Given the description of an element on the screen output the (x, y) to click on. 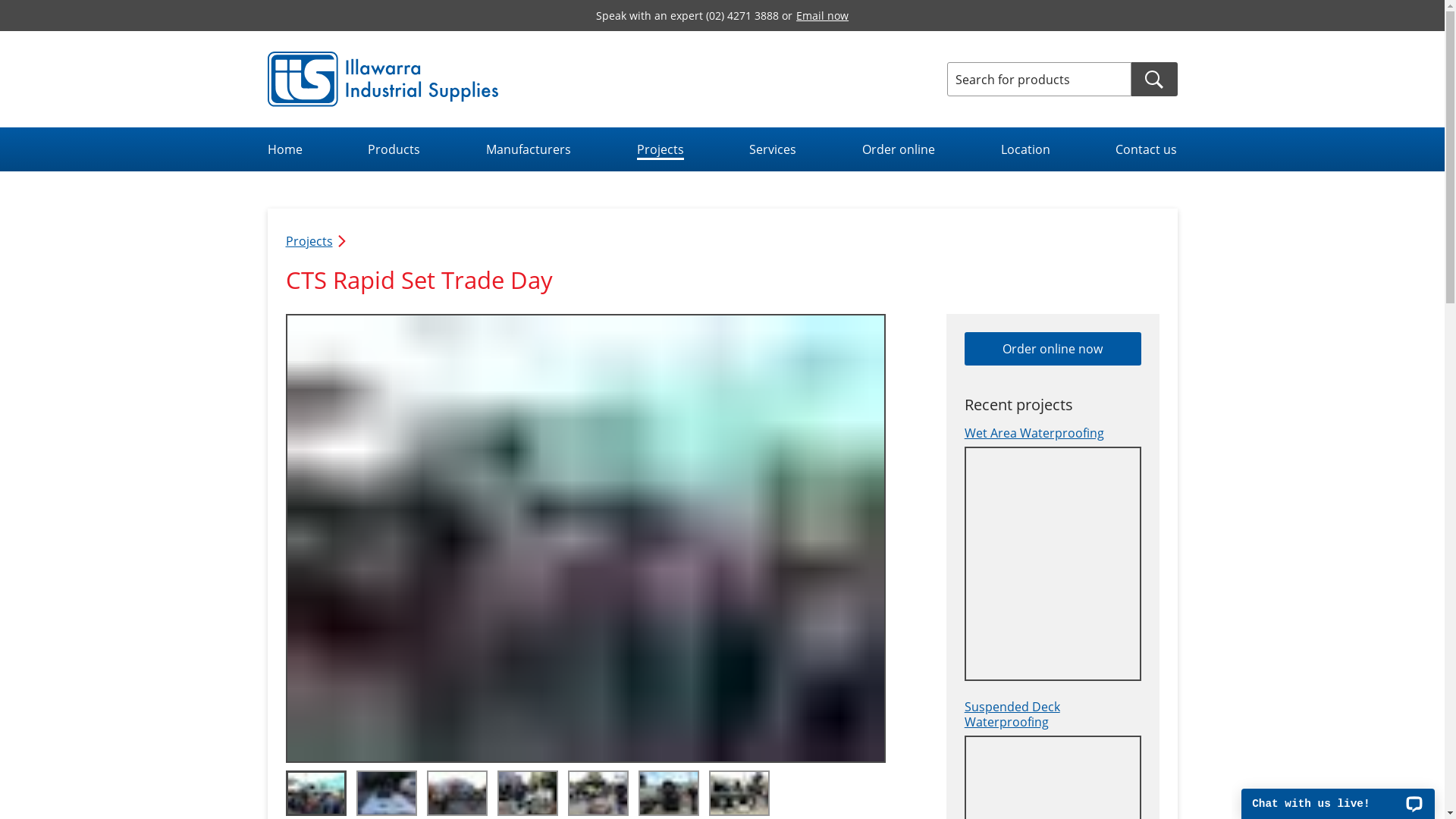
Wet Area Waterproofing Element type: text (1052, 549)
Order online now Element type: text (1052, 348)
Order online Element type: text (898, 149)
Email now Element type: text (822, 15)
Manufacturers Element type: text (528, 149)
ProjectsNext Element type: text (316, 240)
Contact us Element type: text (1145, 149)
Services Element type: text (772, 149)
Home Element type: text (283, 149)
Illawarra Industrial Supplies home page Element type: text (381, 78)
Location Element type: text (1025, 149)
Projects Element type: text (660, 149)
Products Element type: text (393, 149)
